Given the description of an element on the screen output the (x, y) to click on. 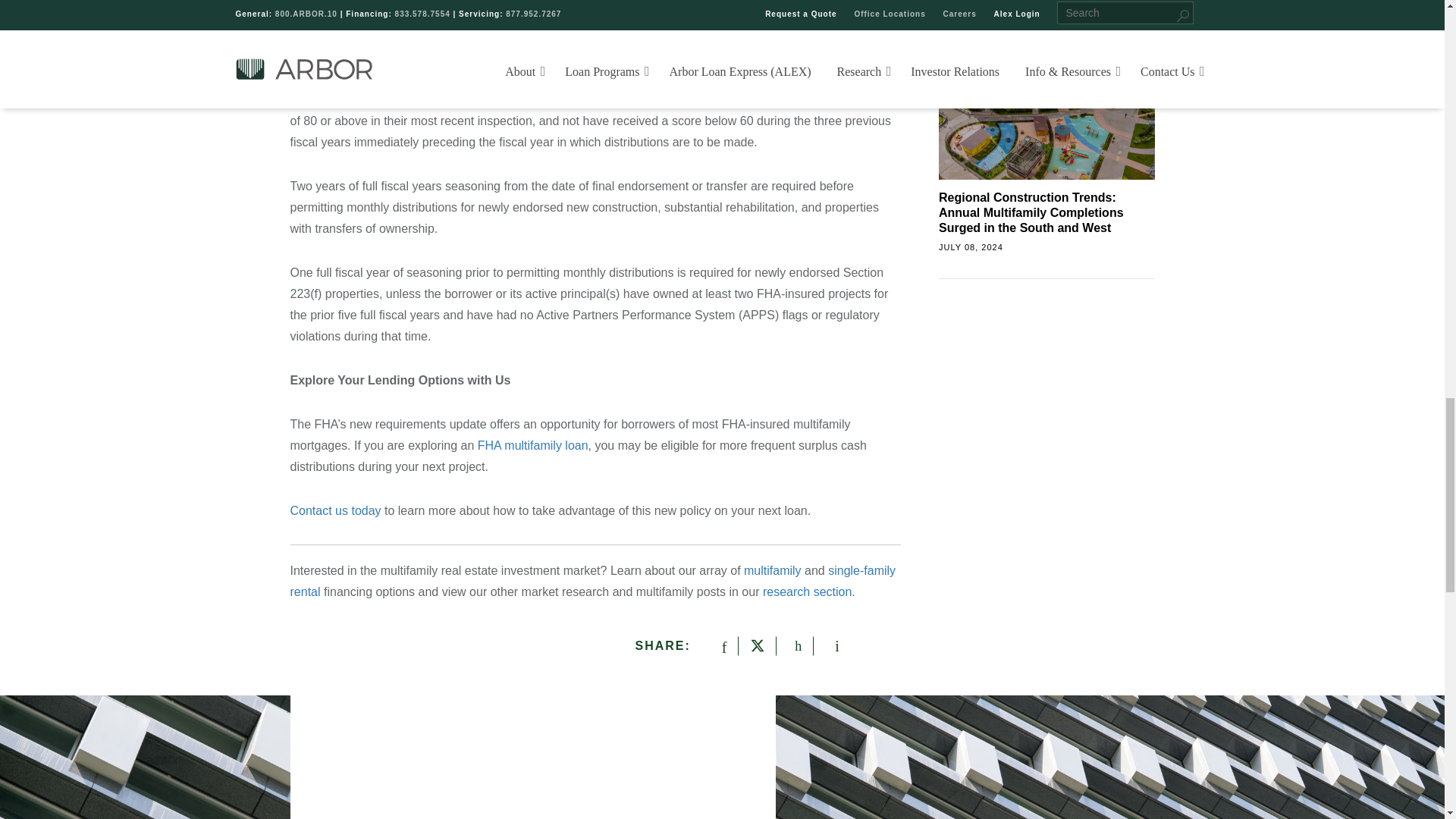
Tweet this! (755, 645)
Share on LinkedIn (793, 645)
